Given the description of an element on the screen output the (x, y) to click on. 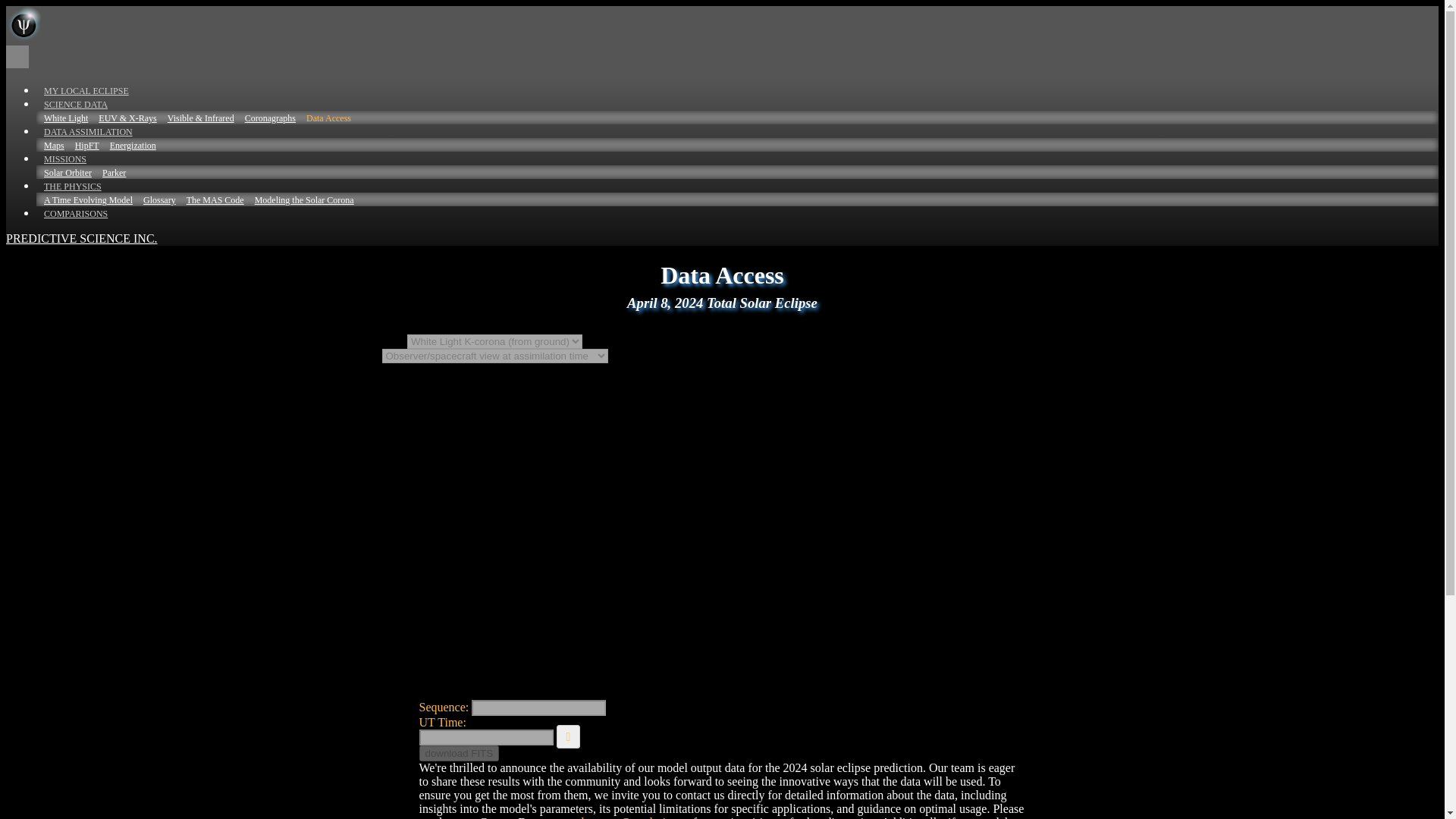
COMPARISONS (75, 213)
Coronagraphs (266, 118)
MISSIONS (64, 158)
Solar Orbiter (63, 172)
The MAS Code (211, 199)
Modeling the Solar Corona (300, 199)
THE PHYSICS (72, 185)
PREDICTIVE SCIENCE INC. (81, 237)
HipFT (82, 145)
White Light (61, 118)
Parker (109, 172)
Energization (128, 145)
Data Access (324, 118)
download FITS (459, 752)
download FITS (459, 753)
